Given the description of an element on the screen output the (x, y) to click on. 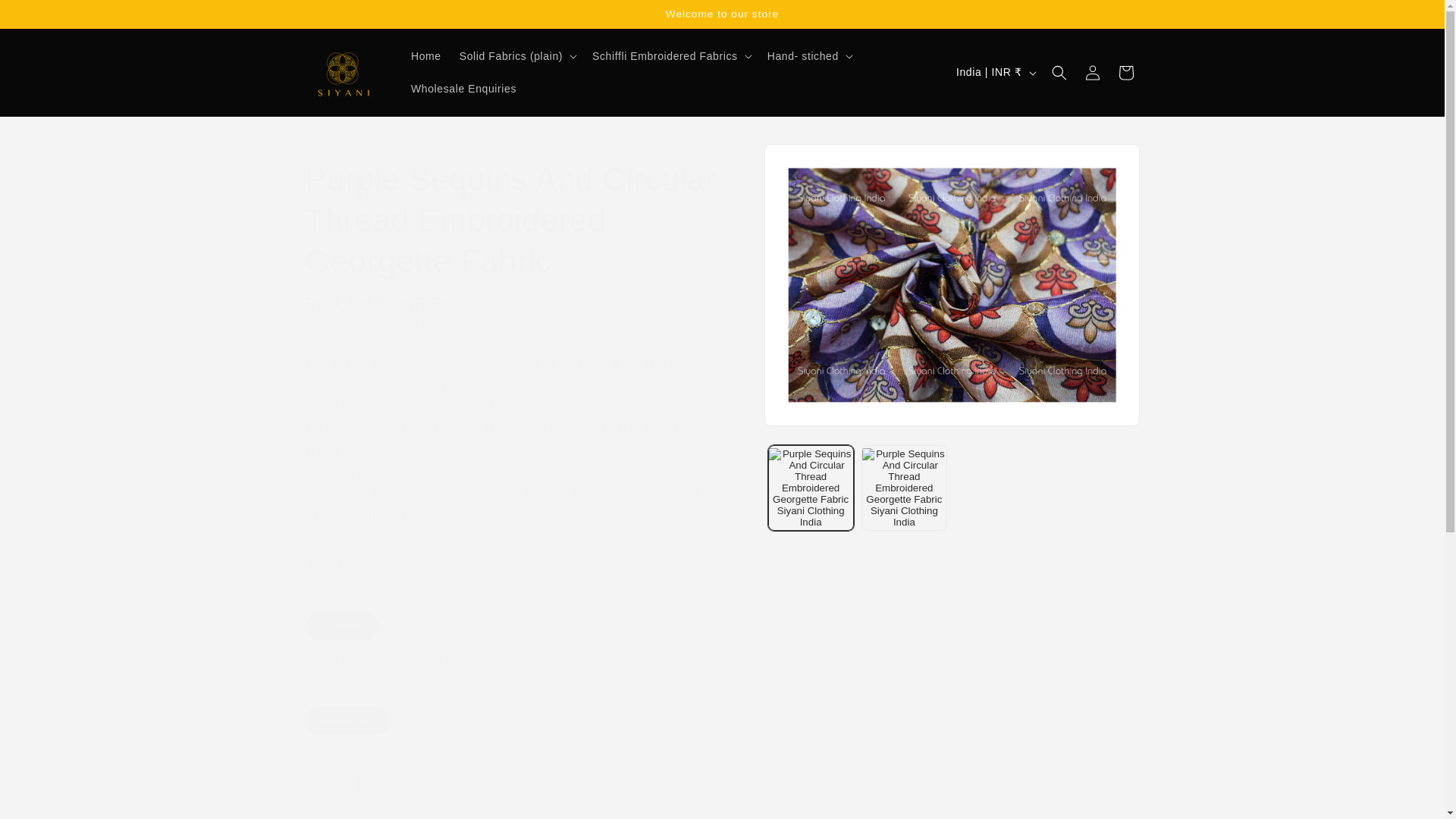
Skip to content (45, 17)
1 (358, 783)
Open media 1 in modal (952, 284)
